Given the description of an element on the screen output the (x, y) to click on. 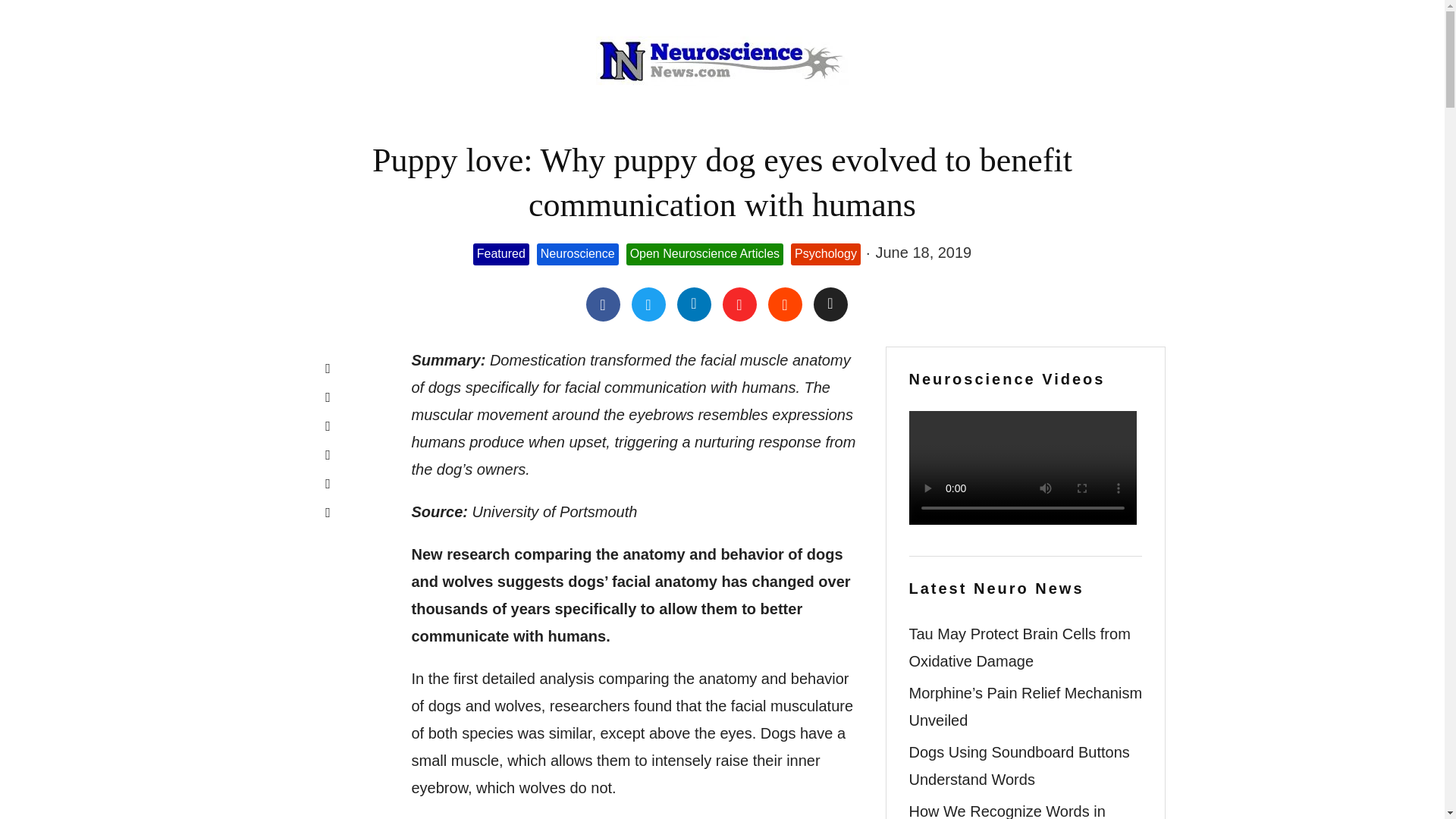
Featured (501, 254)
Psychology (825, 254)
Neuroscience (577, 254)
Open Neuroscience Articles (704, 254)
